Given the description of an element on the screen output the (x, y) to click on. 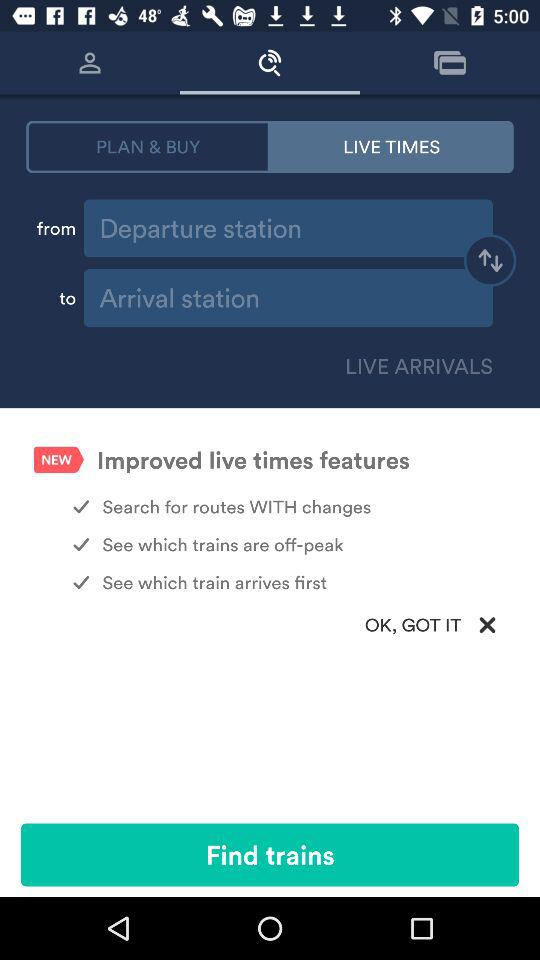
enter station name (288, 228)
